Given the description of an element on the screen output the (x, y) to click on. 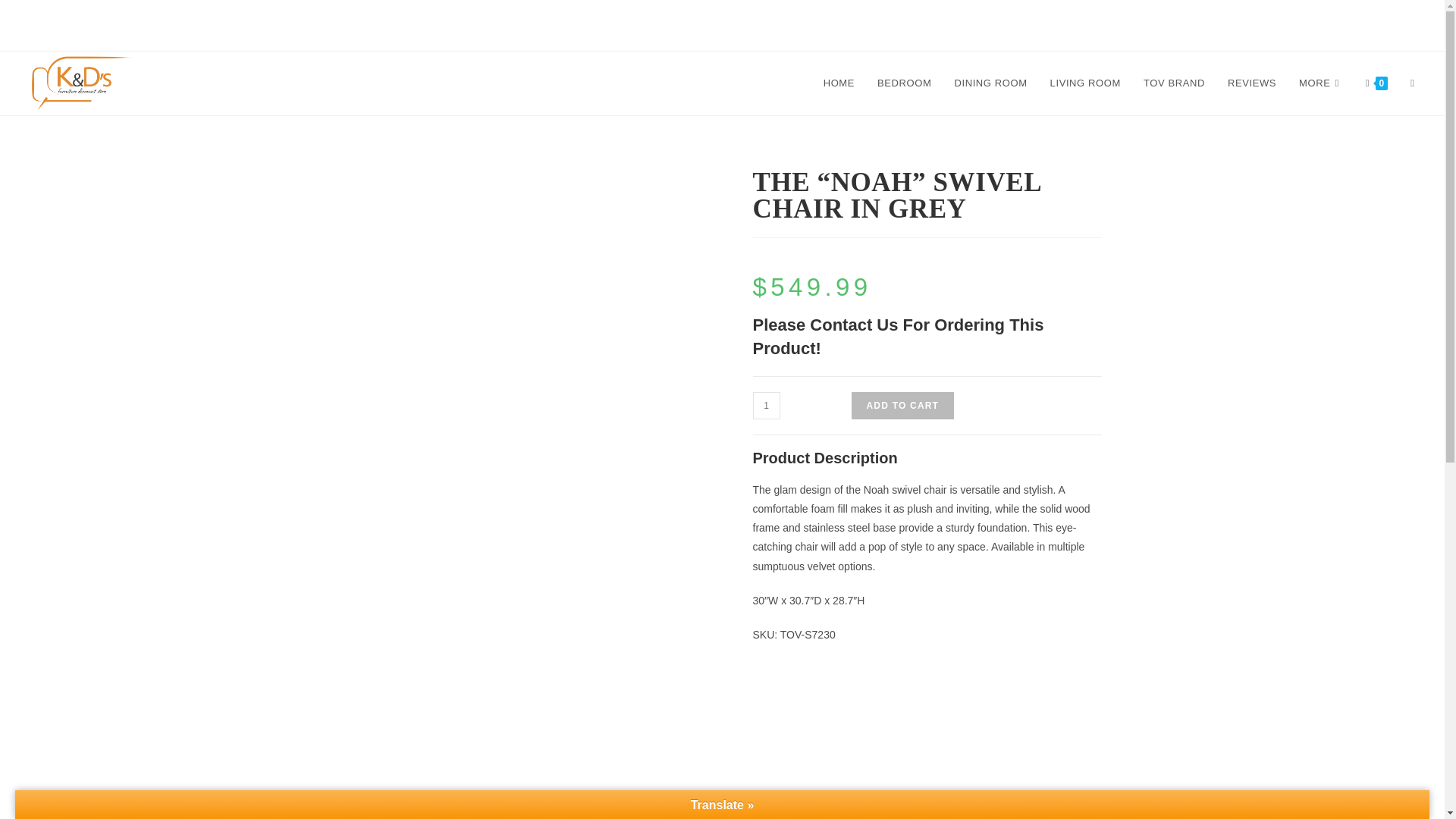
MORE (1320, 83)
BEDROOM (904, 83)
1 (765, 405)
ADD TO CART (901, 405)
DINING ROOM (990, 83)
LIVING ROOM (1085, 83)
REVIEWS (1251, 83)
TOV BRAND (1173, 83)
HOME (839, 83)
CLICK HERE for No-Credit Purchase Options! (721, 24)
